Given the description of an element on the screen output the (x, y) to click on. 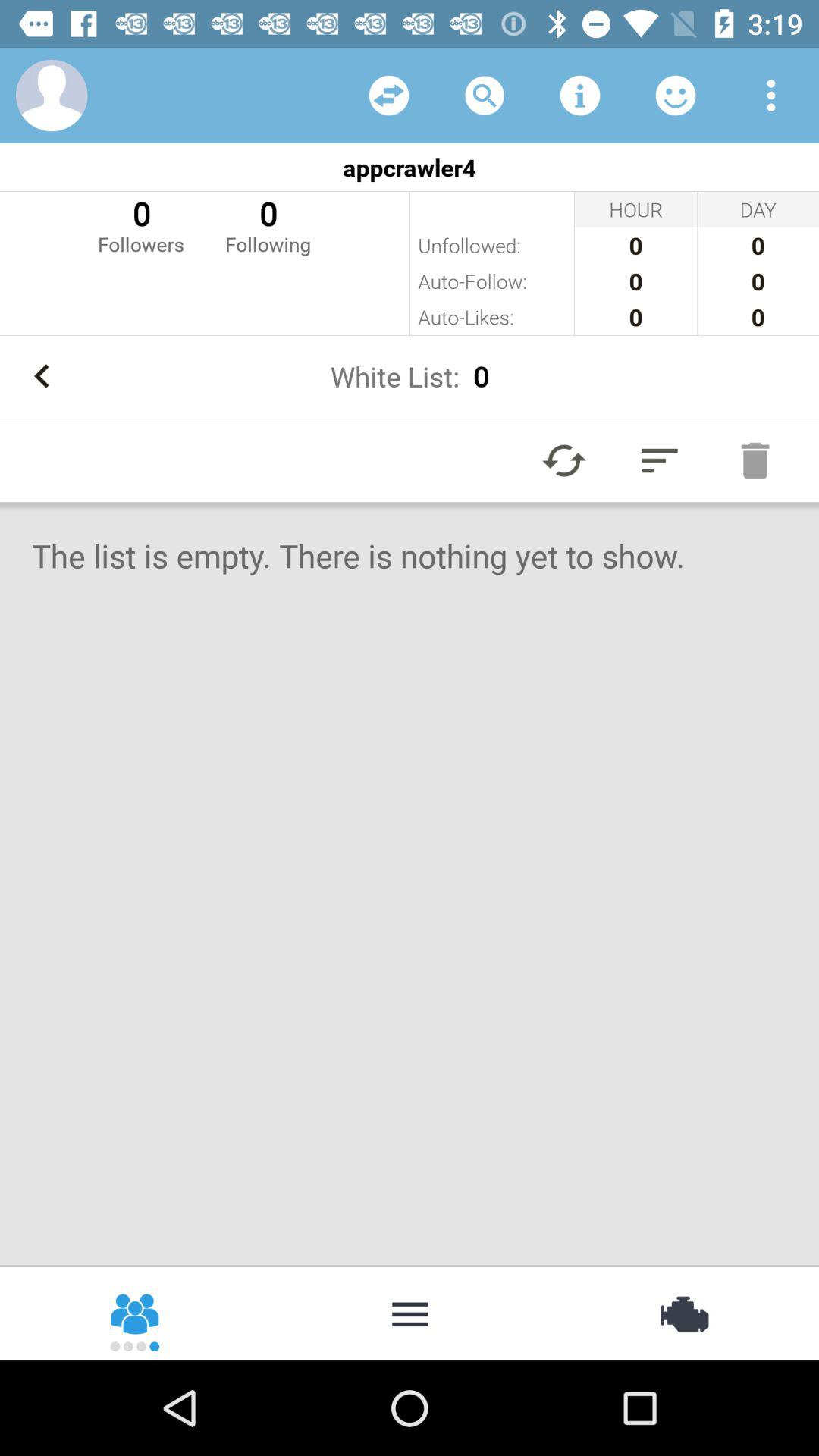
user profile (51, 95)
